Given the description of an element on the screen output the (x, y) to click on. 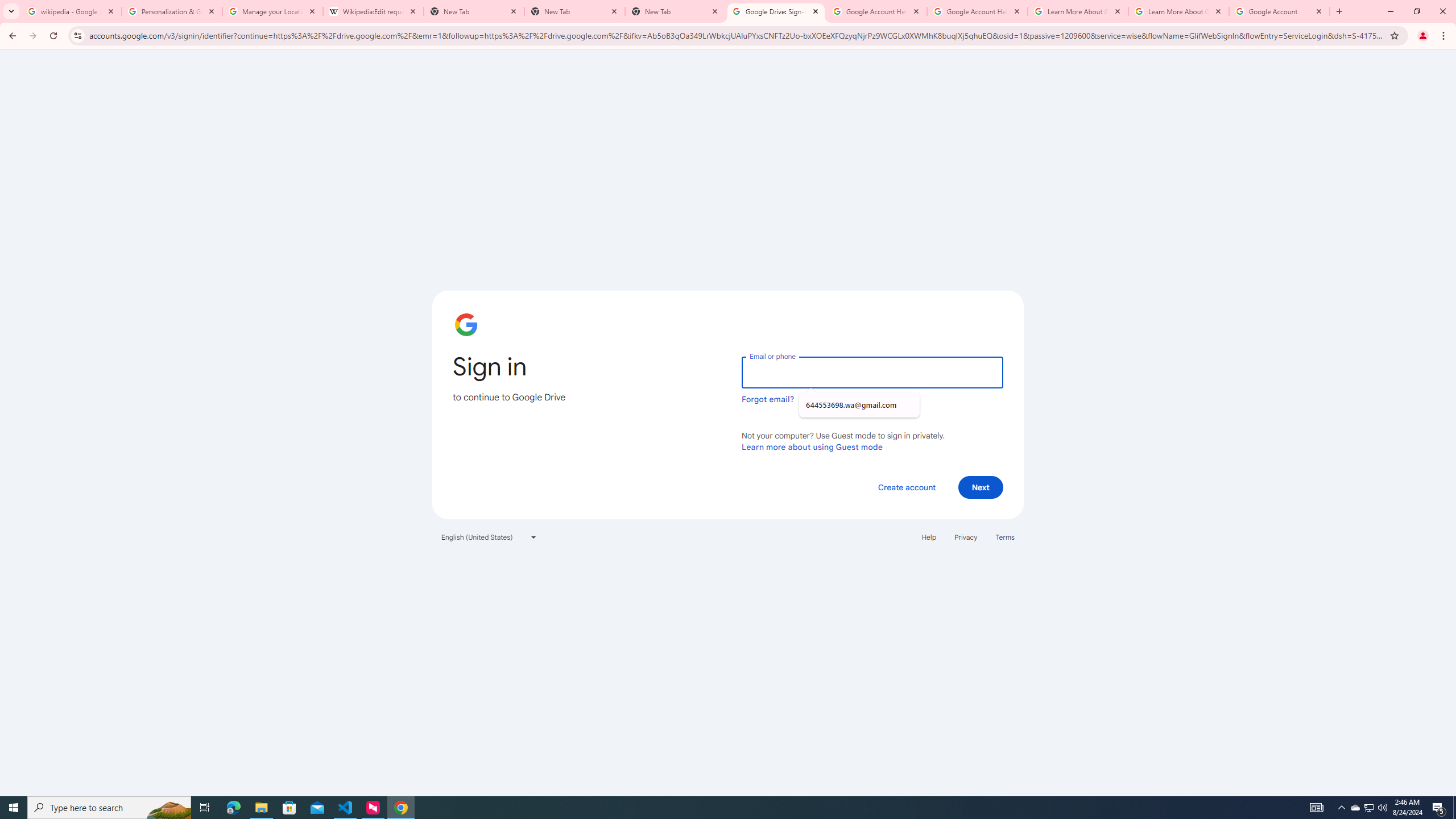
Personalization & Google Search results - Google Search Help (171, 11)
Google Account (1279, 11)
English (United States) (489, 536)
New Tab (675, 11)
Wikipedia:Edit requests - Wikipedia (373, 11)
